Given the description of an element on the screen output the (x, y) to click on. 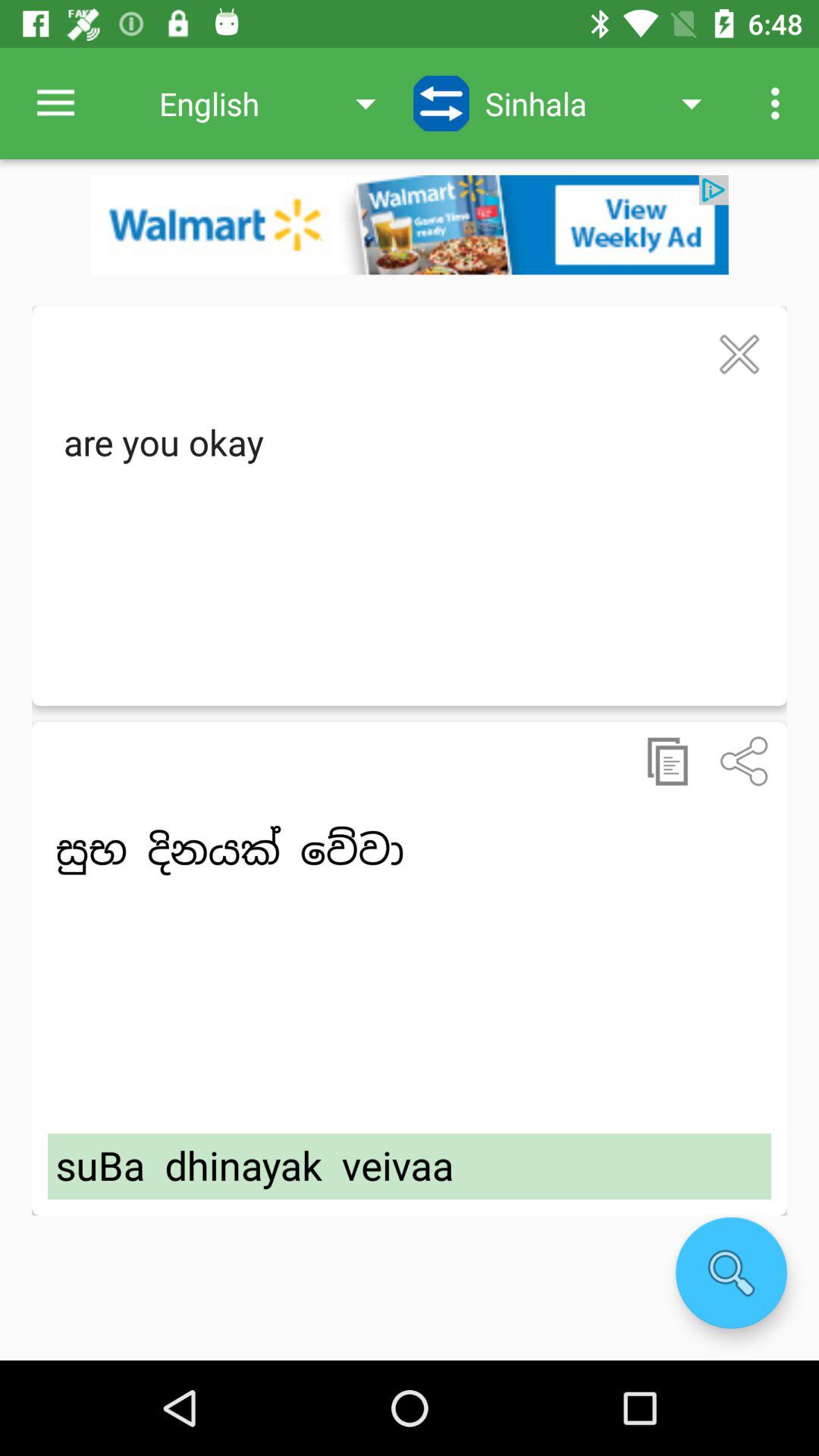
switch language (441, 103)
